Given the description of an element on the screen output the (x, y) to click on. 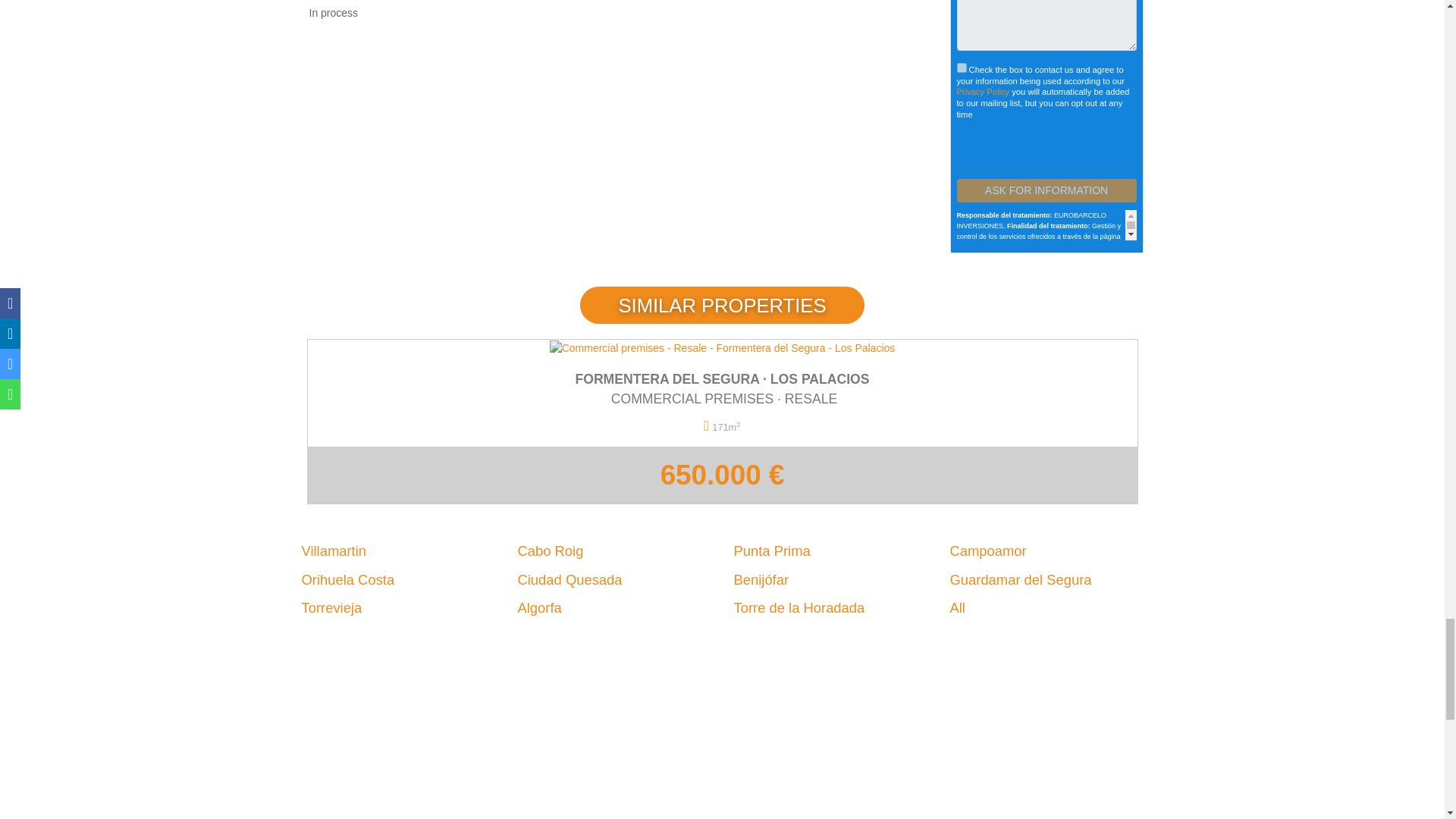
Ask for information (1046, 190)
on (961, 67)
